Given the description of an element on the screen output the (x, y) to click on. 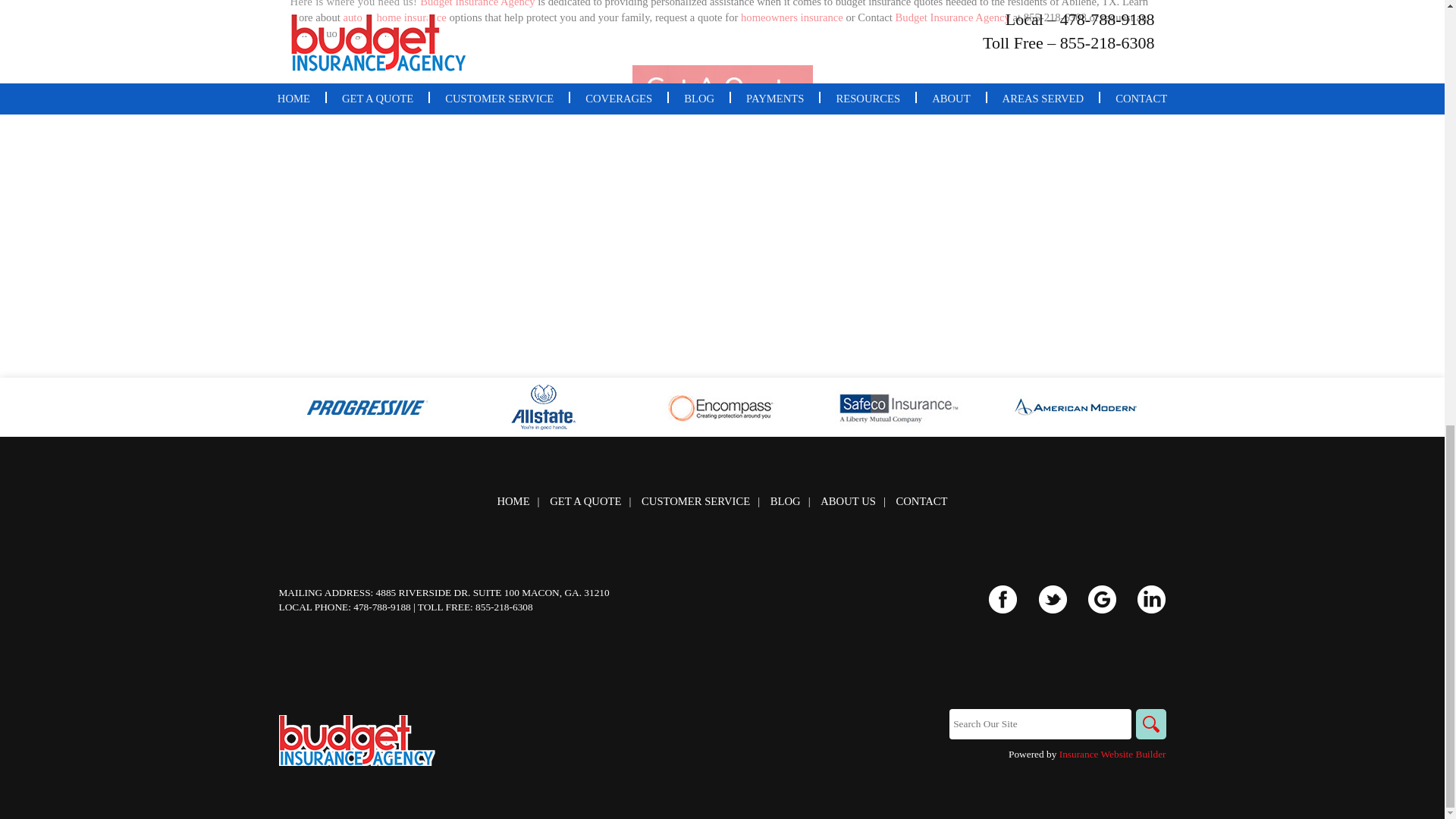
Get a Quote in Texas (721, 86)
Insurance Website Builder (1112, 754)
